Given the description of an element on the screen output the (x, y) to click on. 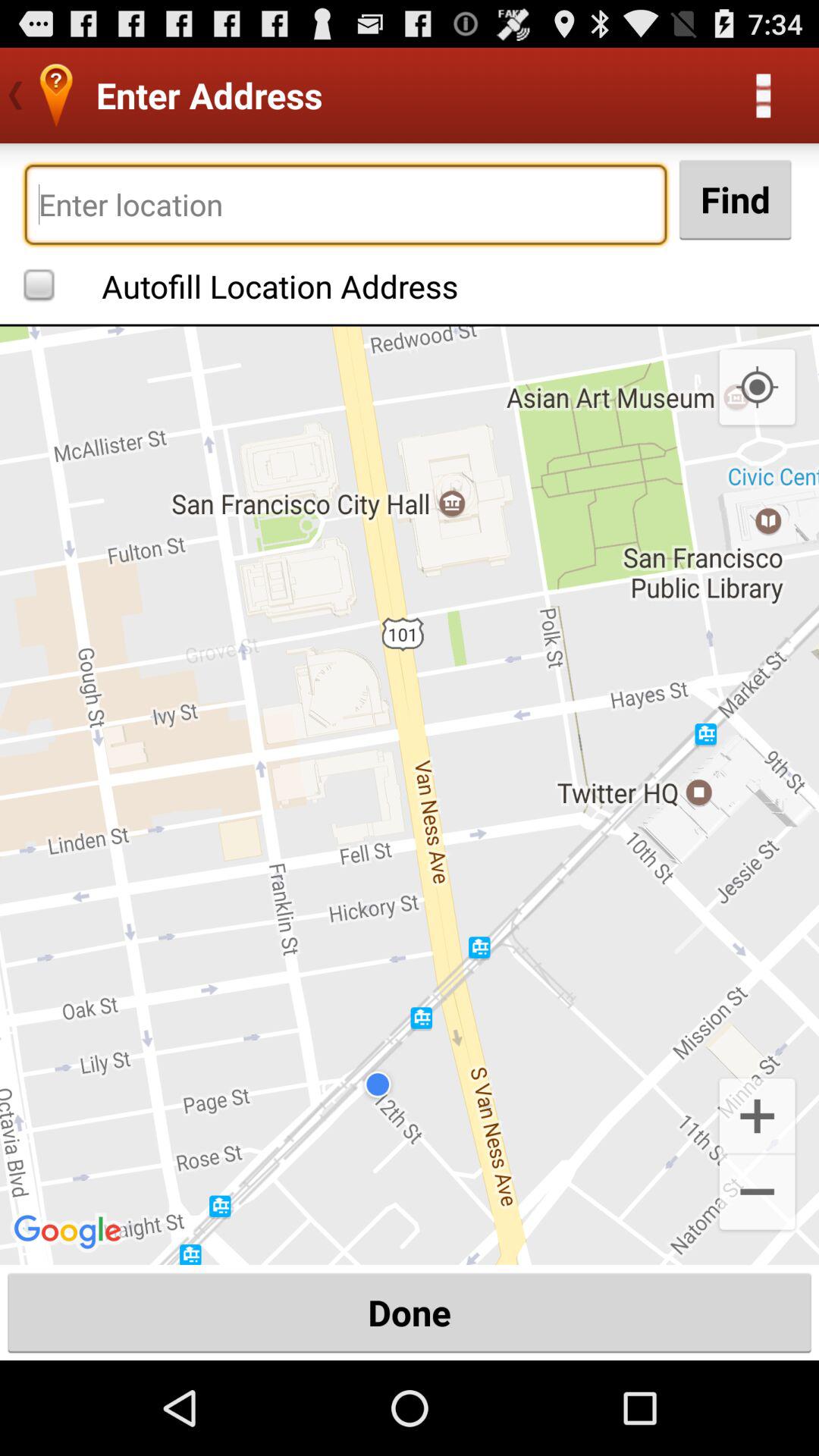
open find item (735, 199)
